Given the description of an element on the screen output the (x, y) to click on. 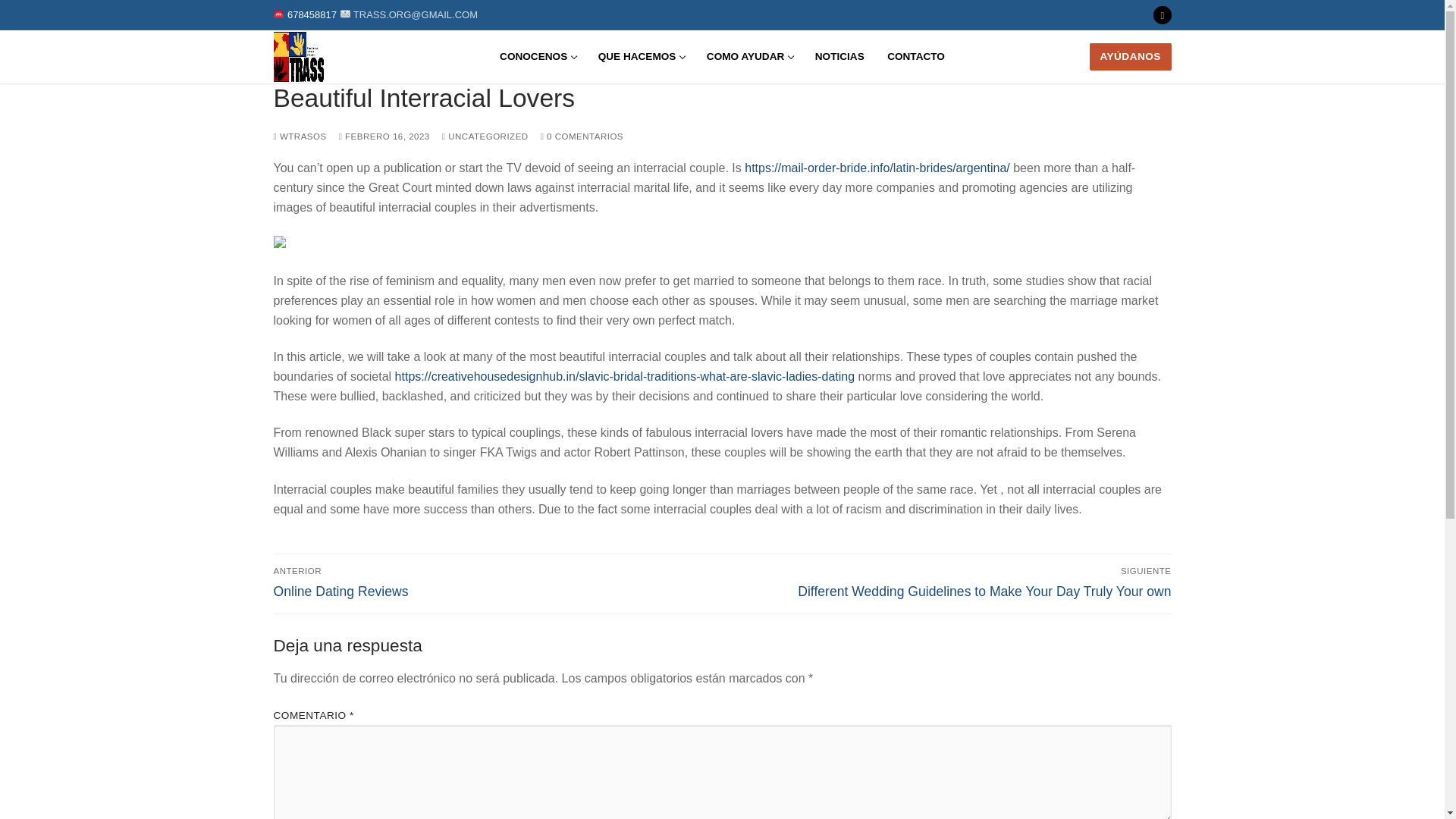
NOTICIAS (840, 56)
CONTACTO (916, 56)
0 COMENTARIOS (581, 135)
Facebook (641, 56)
FEBRERO 16, 2023 (493, 582)
UNCATEGORIZED (1162, 15)
WTRASOS (384, 135)
